Given the description of an element on the screen output the (x, y) to click on. 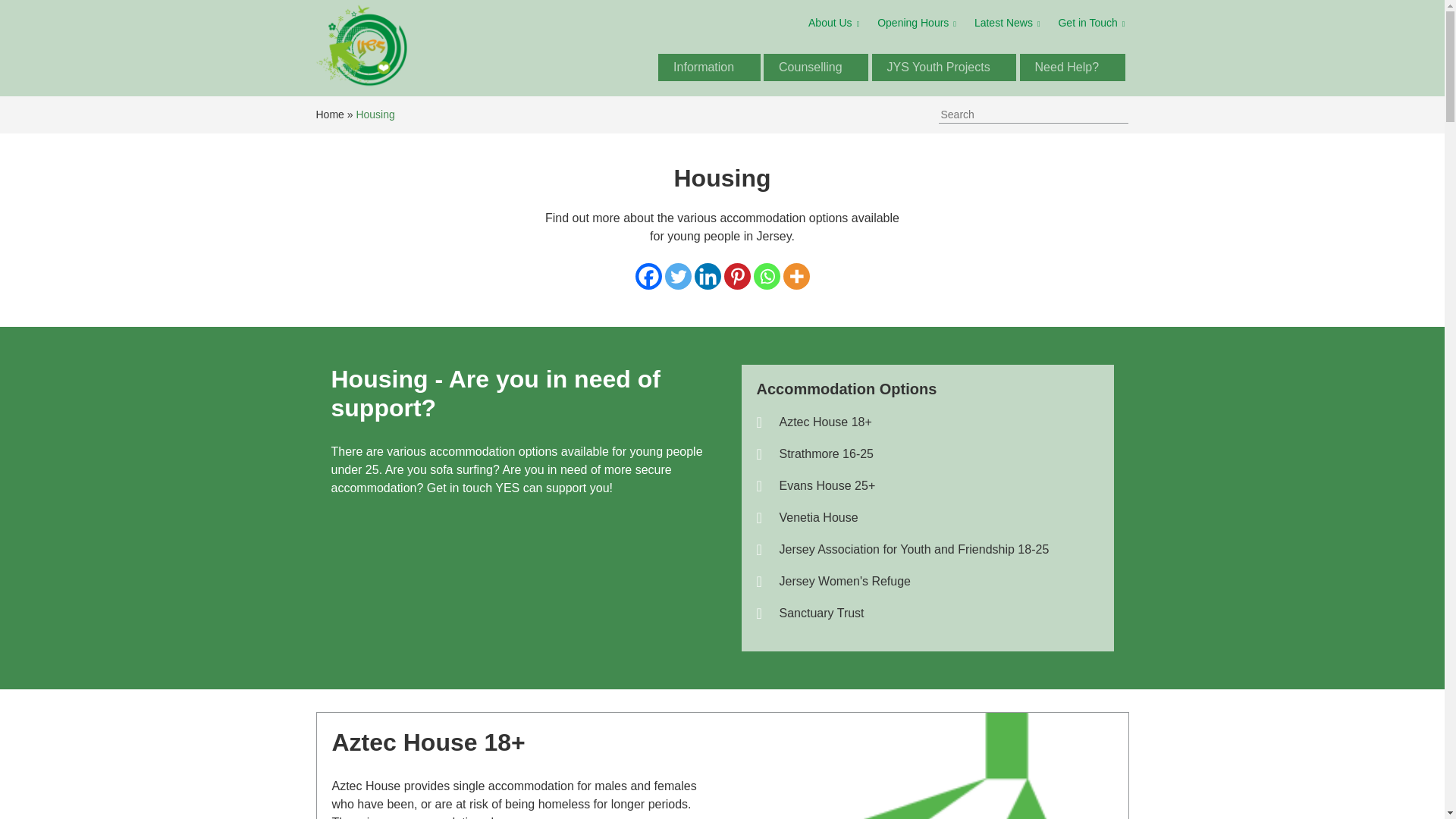
Counselling (815, 66)
Linkedin (707, 275)
More (796, 275)
Opening Hours (916, 23)
Venetia House (928, 517)
Twitter (676, 275)
Whatsapp (767, 275)
Facebook (648, 275)
Need Help? (1072, 66)
Jersey Women's Refuge (928, 581)
JYS Youth Projects (943, 66)
Pinterest (736, 275)
Get in Touch (1091, 23)
About Us (833, 23)
Home (329, 114)
